Given the description of an element on the screen output the (x, y) to click on. 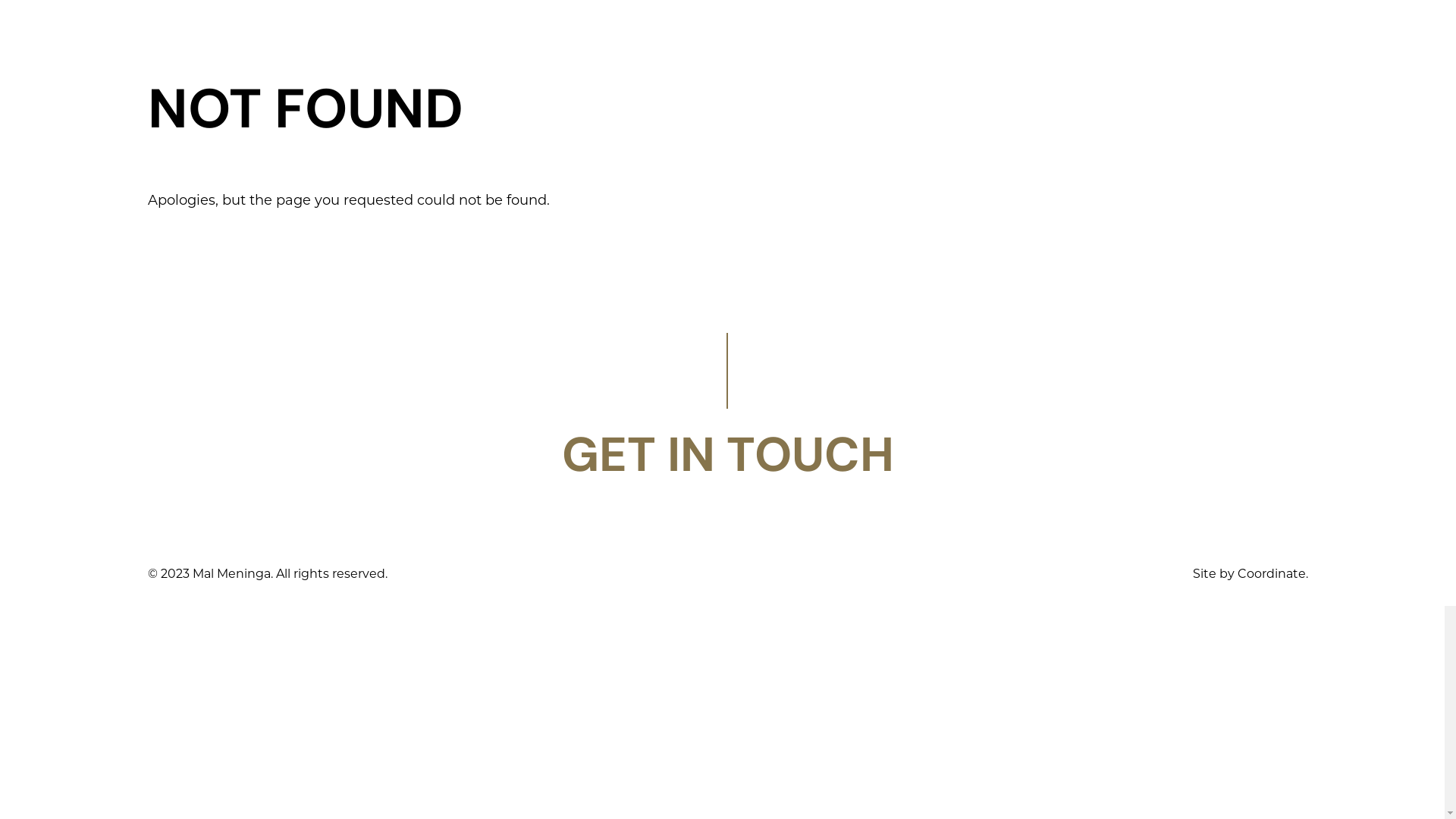
Coordinate Element type: text (1271, 573)
GET IN TOUCH Element type: text (727, 454)
MAL MENINGA Element type: text (730, 30)
